Given the description of an element on the screen output the (x, y) to click on. 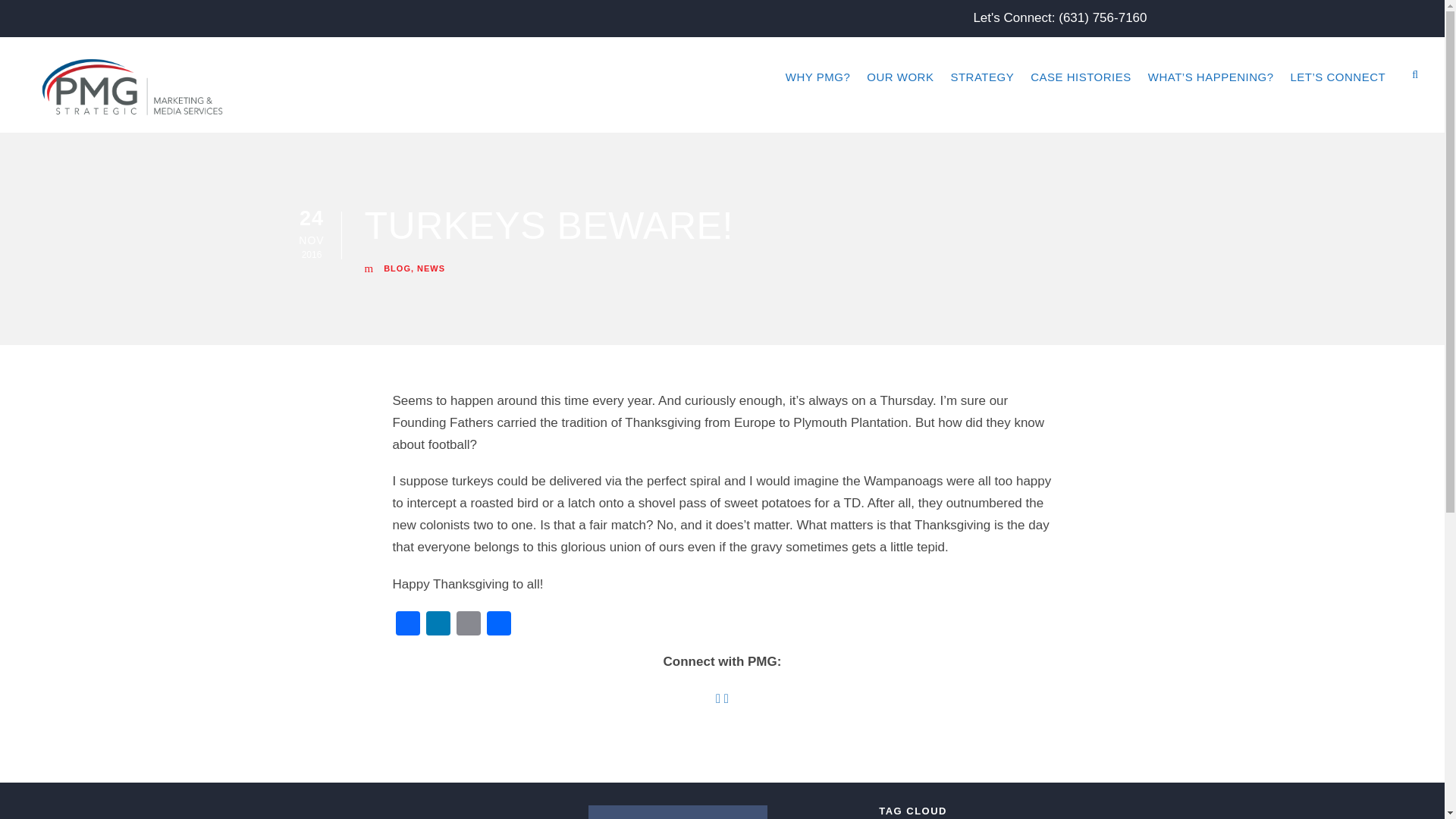
Email (467, 624)
Facebook (408, 624)
OUR WORK (899, 92)
CASE HISTORIES (1080, 92)
Email (467, 624)
Facebook (408, 624)
BLOG (397, 267)
LinkedIn (437, 624)
NEWS (430, 267)
Share (498, 624)
